Given the description of an element on the screen output the (x, y) to click on. 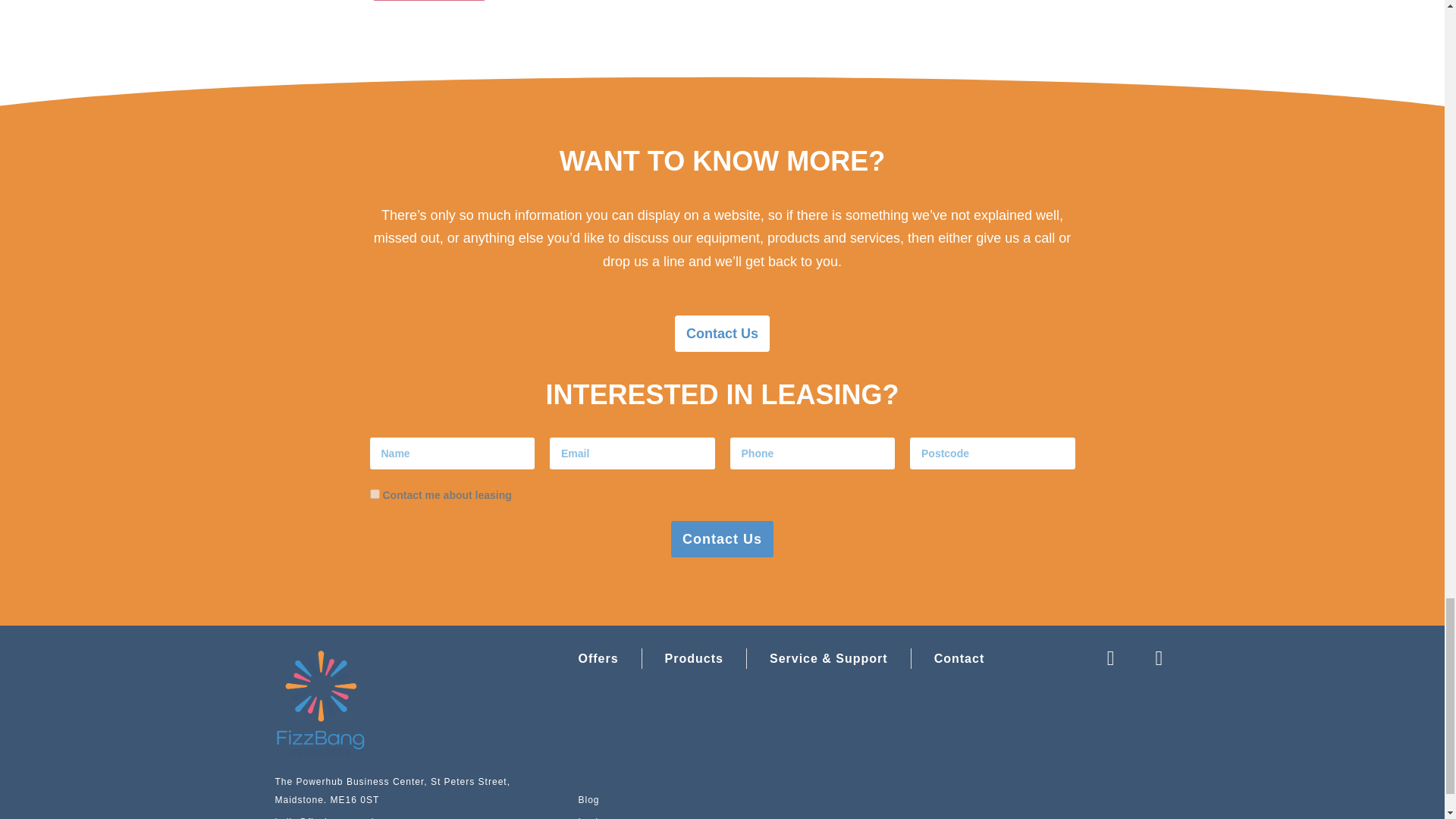
Contact me about leasing (374, 493)
